Given the description of an element on the screen output the (x, y) to click on. 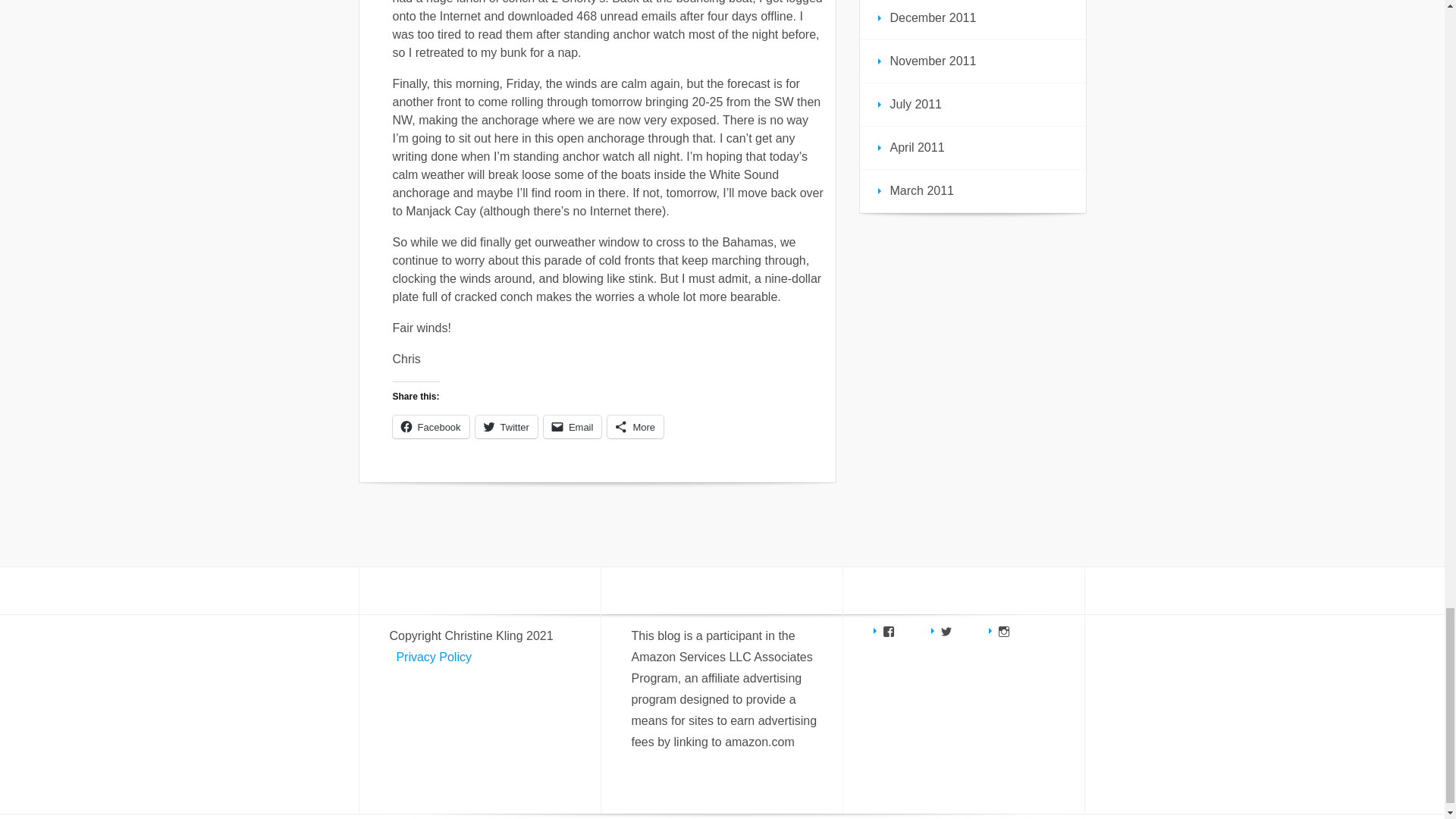
Twitter (506, 426)
Facebook (430, 426)
Email (572, 426)
Click to share on Twitter (506, 426)
Click to share on Facebook (430, 426)
Click to email a link to a friend (572, 426)
More (635, 426)
